Given the description of an element on the screen output the (x, y) to click on. 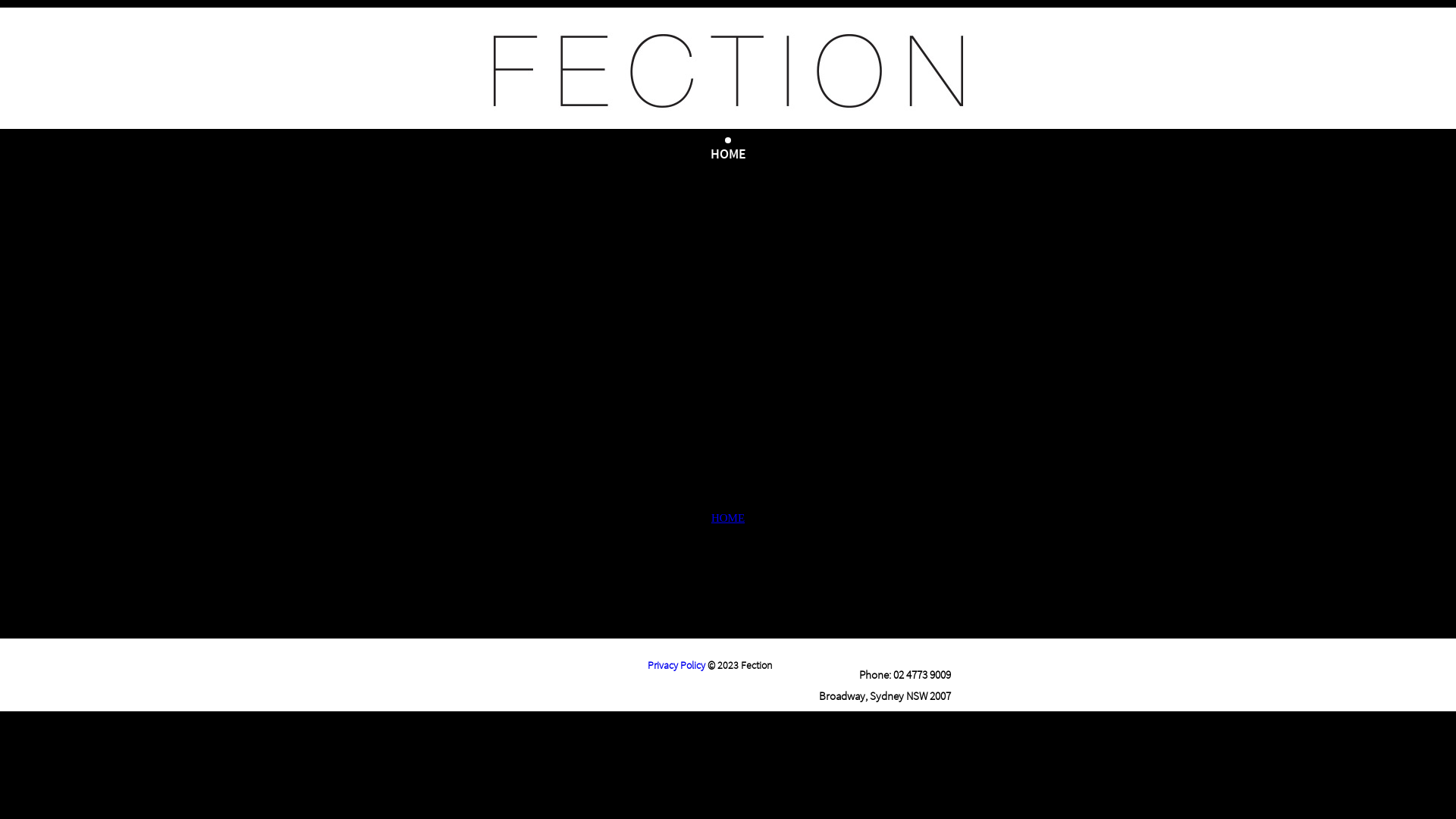
HOME Element type: text (727, 153)
HOME Element type: text (727, 517)
Privacy Policy Element type: text (676, 664)
